Given the description of an element on the screen output the (x, y) to click on. 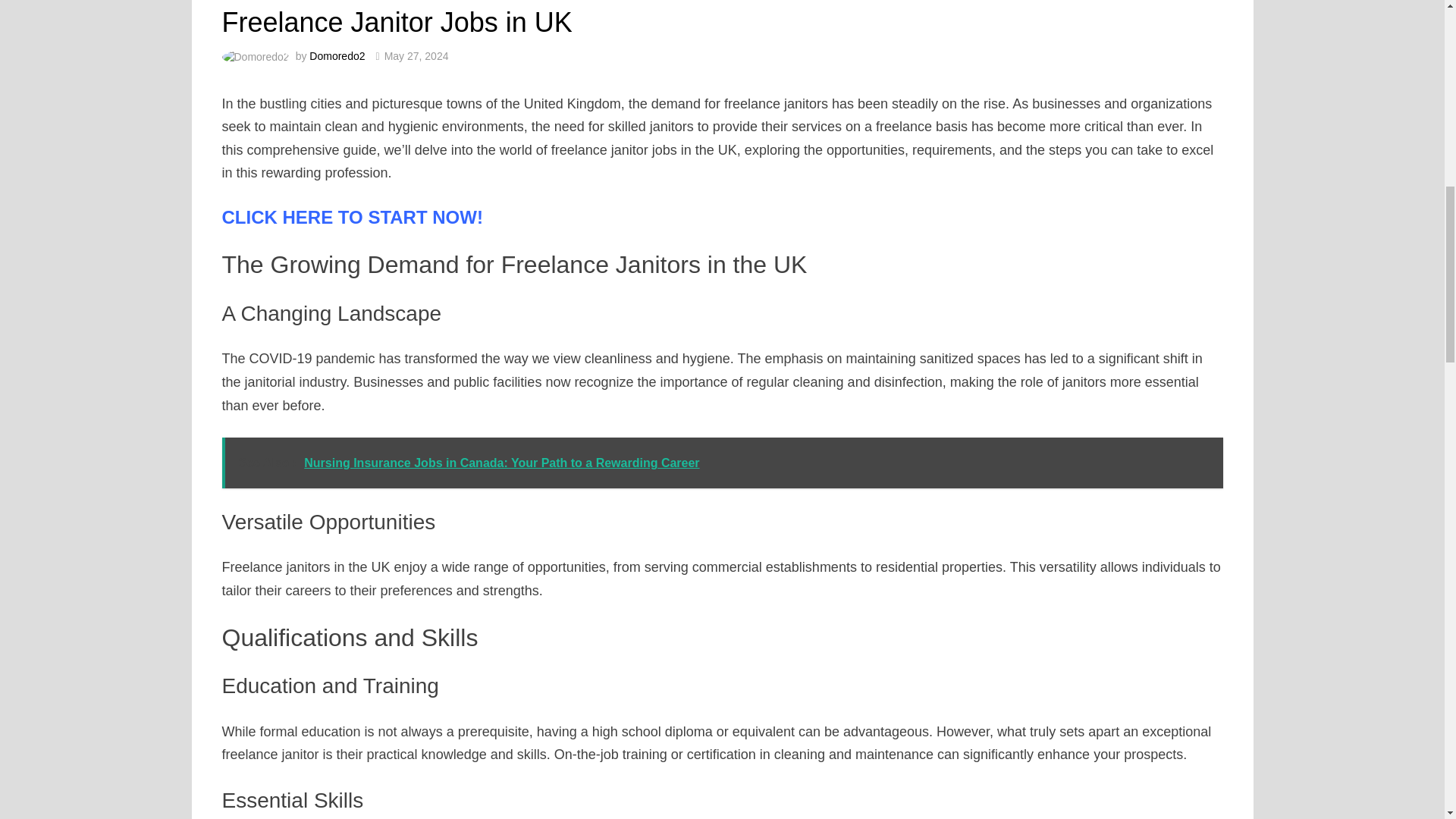
CLICK HERE TO START NOW! (351, 217)
May 27, 2024 (416, 55)
Domoredo2 (336, 55)
